Given the description of an element on the screen output the (x, y) to click on. 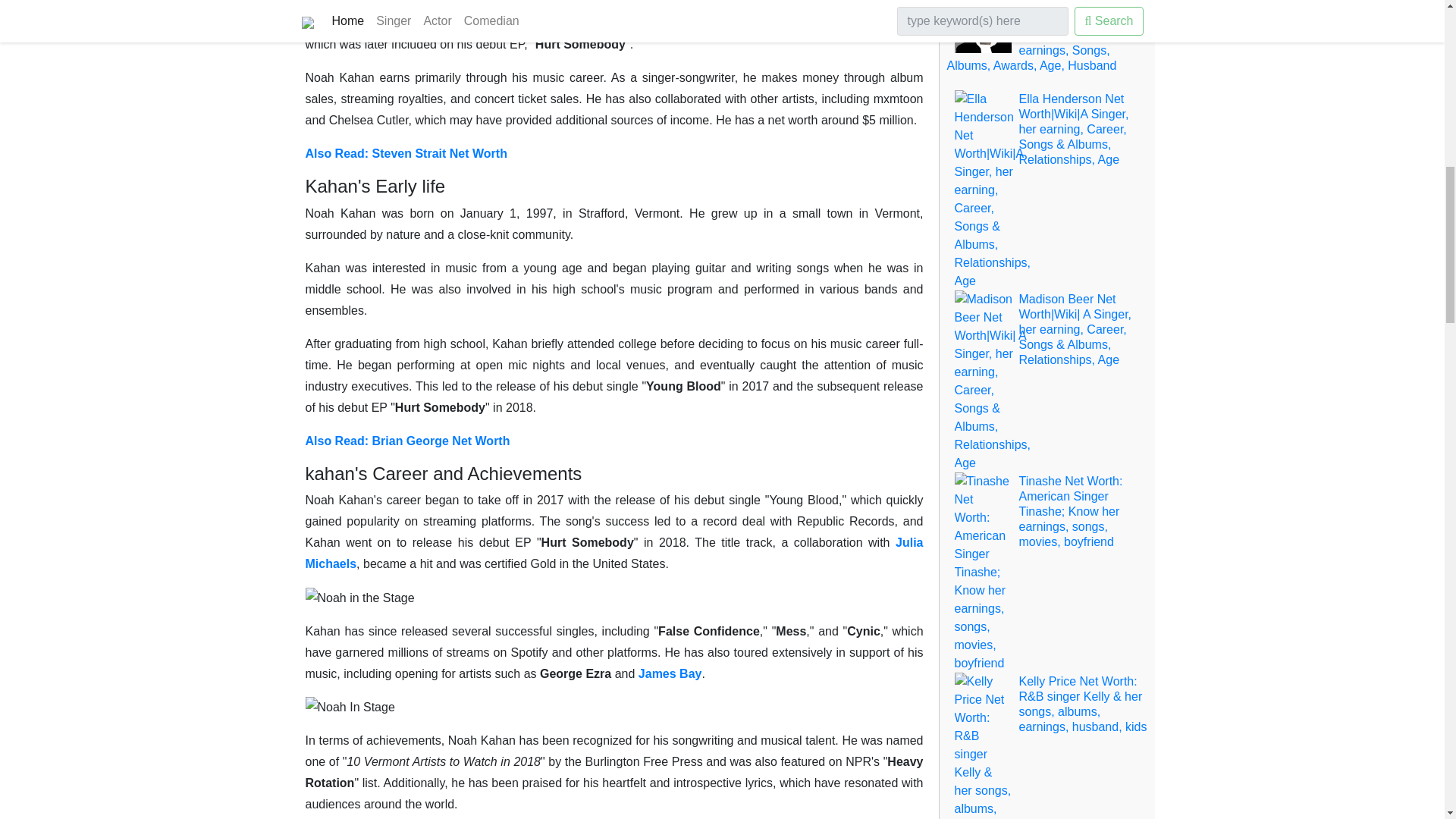
Also Read: Steven Strait Net Worth (405, 153)
Also Read: Brian George Net Worth (406, 440)
James Bay (670, 673)
Julia Michaels (613, 553)
